Given the description of an element on the screen output the (x, y) to click on. 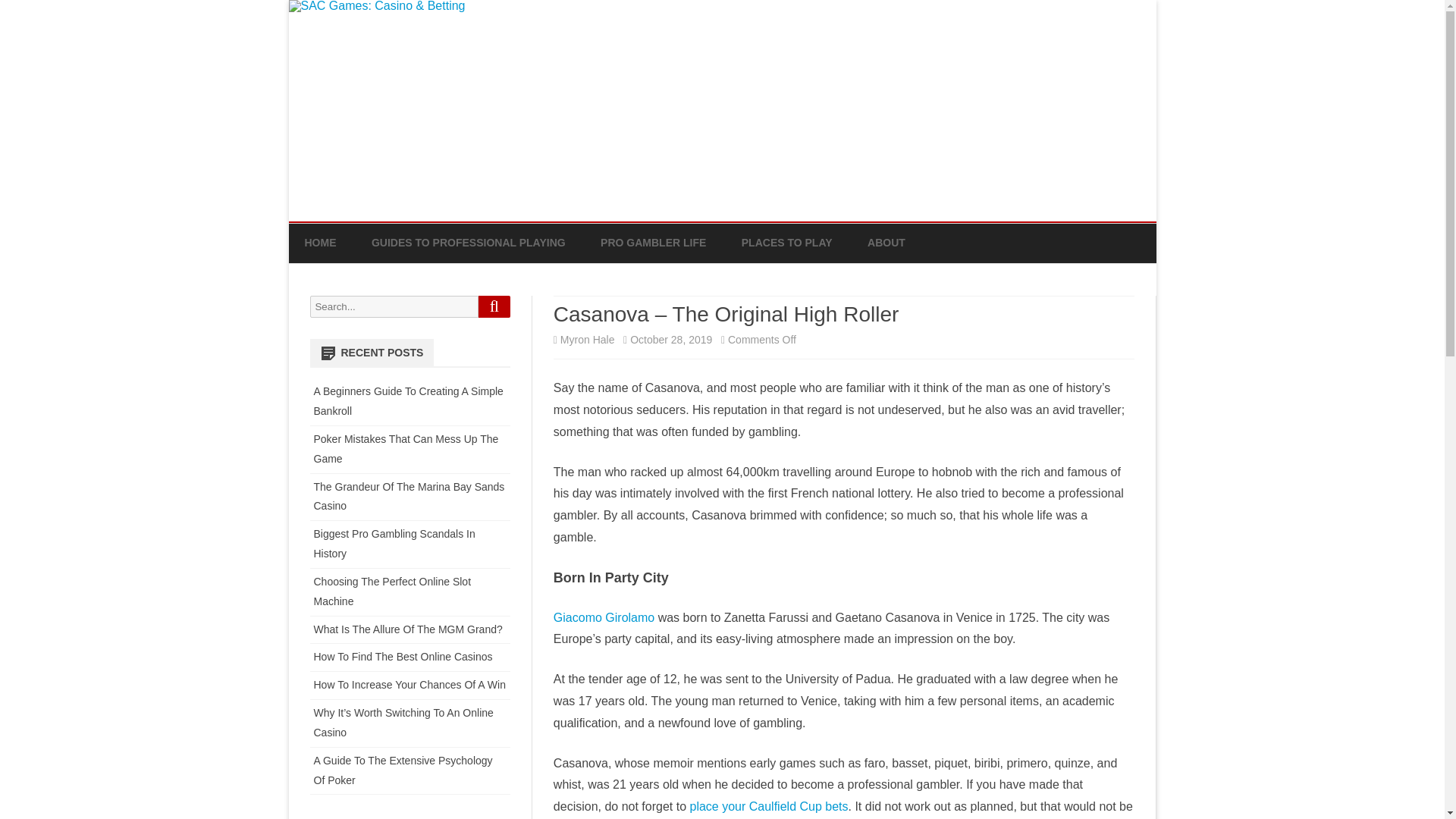
place your Caulfield Cup bets (769, 806)
Poker Mistakes That Can Mess Up The Game (406, 449)
PLACES TO PLAY (786, 242)
ABOUT (886, 242)
How To Find The Best Online Casinos (403, 656)
Myron Hale (587, 339)
A Guide To The Extensive Psychology Of Poker (403, 770)
Search (495, 306)
What Is The Allure Of The MGM Grand? (408, 629)
